Given the description of an element on the screen output the (x, y) to click on. 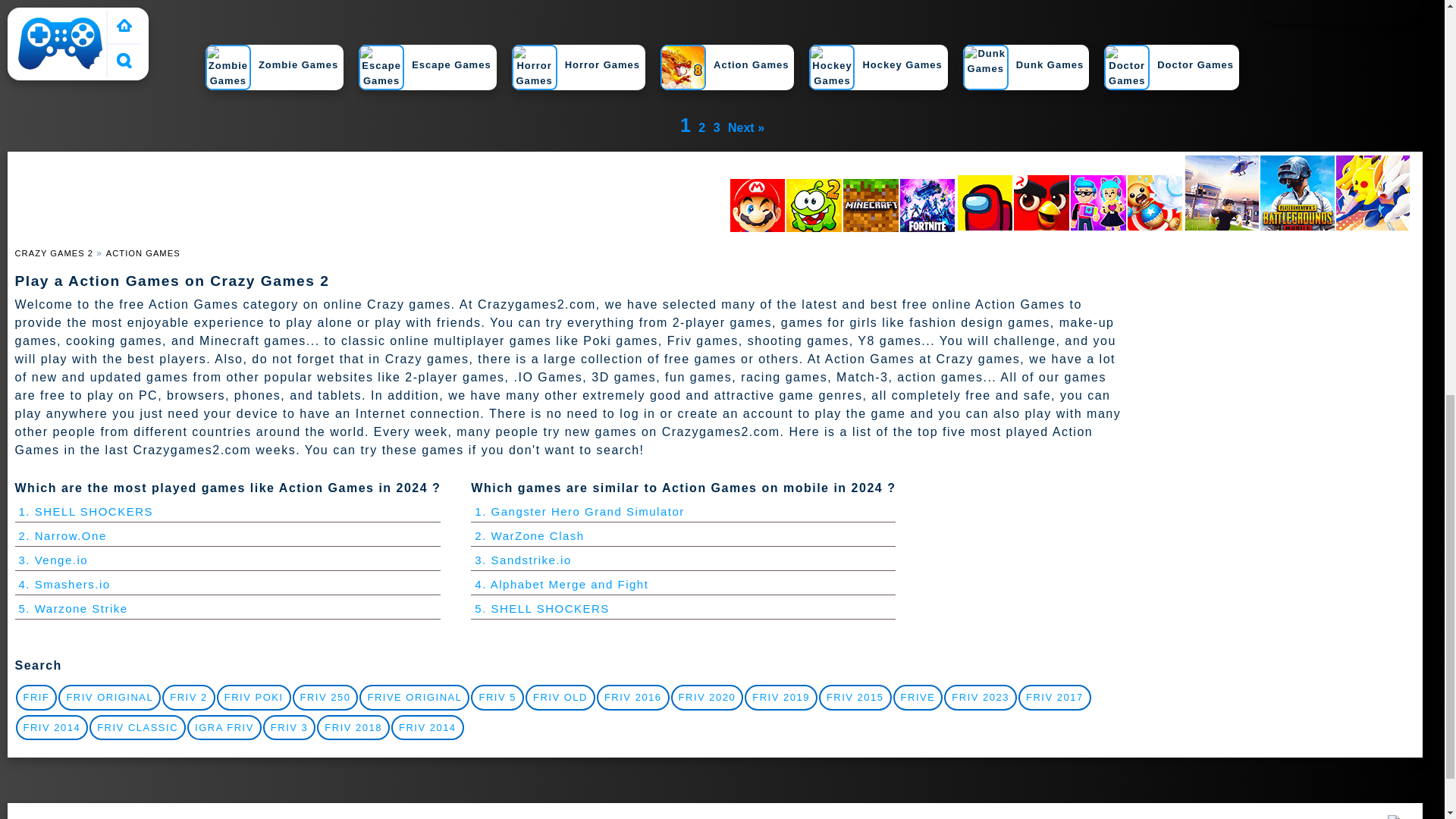
Venge.io (53, 559)
Narrow.One (62, 535)
WarZone Clash (528, 535)
SHELL SHOCKERS (86, 511)
Smashers.io (64, 584)
Sandstrike.io (522, 559)
Warzone Strike (73, 608)
Gangster Hero Grand Simulator (579, 511)
